Given the description of an element on the screen output the (x, y) to click on. 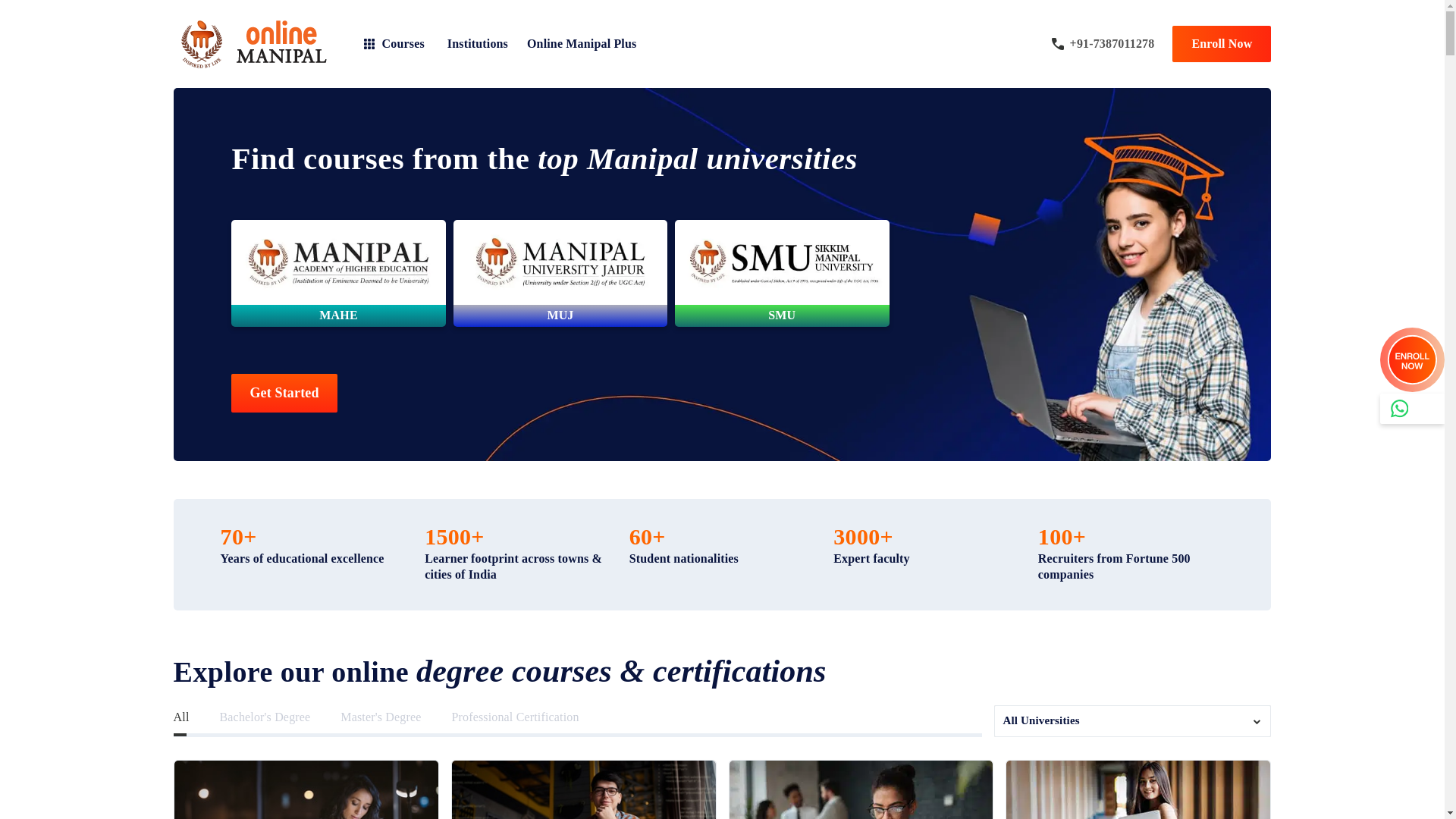
Online Manipal Plus (581, 43)
SMU (781, 273)
Bachelor's Degree (265, 716)
Enroll Now (1221, 43)
Professional Certification (514, 716)
All (181, 716)
MAHE (338, 273)
Master's Degree (380, 716)
Get Started (283, 392)
MUJ (559, 273)
